Given the description of an element on the screen output the (x, y) to click on. 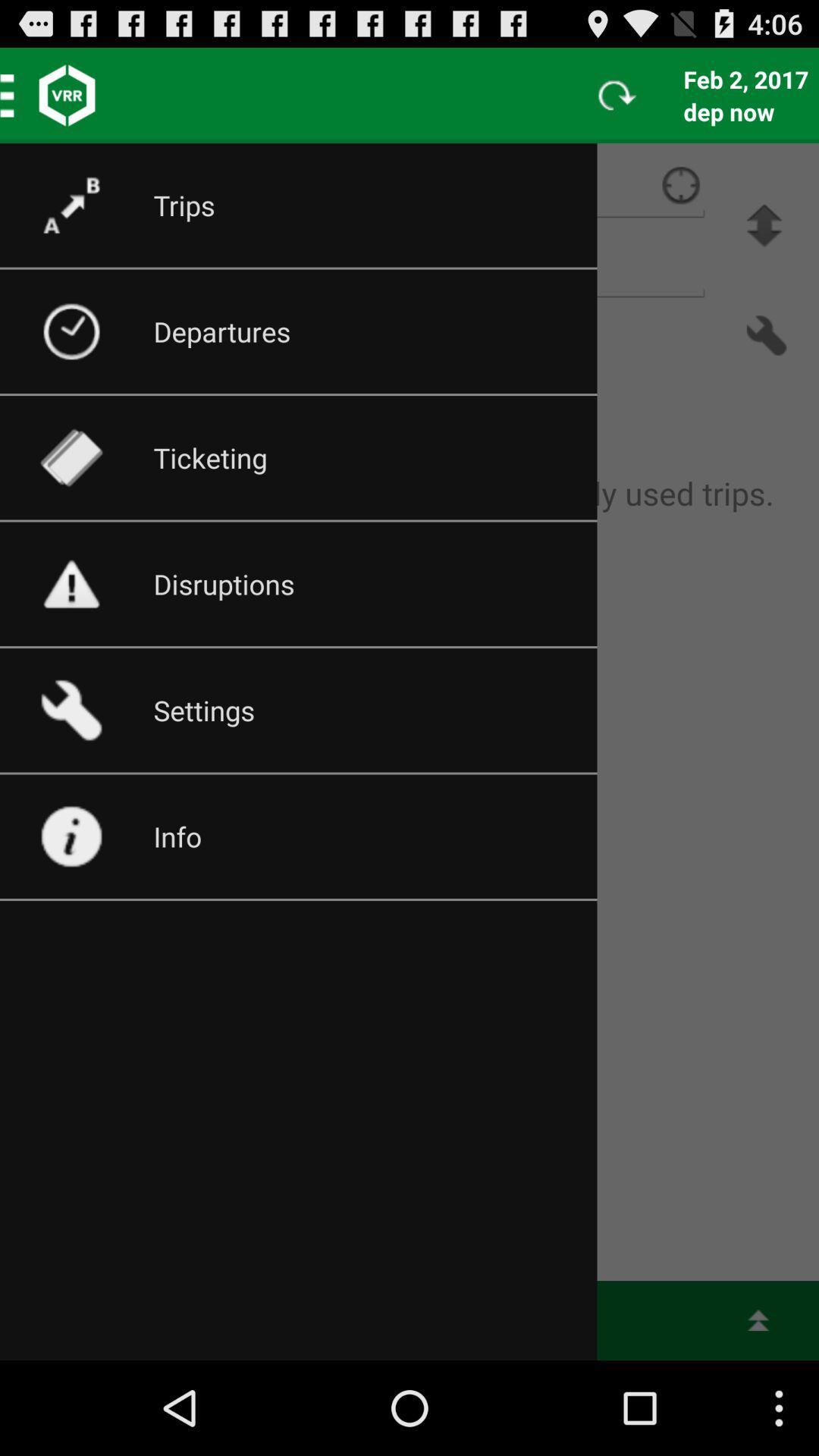
select the icon on the info button on the web page (86, 836)
click on the departures icon at the left side of the page (86, 331)
click the refresh button on the web page (617, 95)
